Given the description of an element on the screen output the (x, y) to click on. 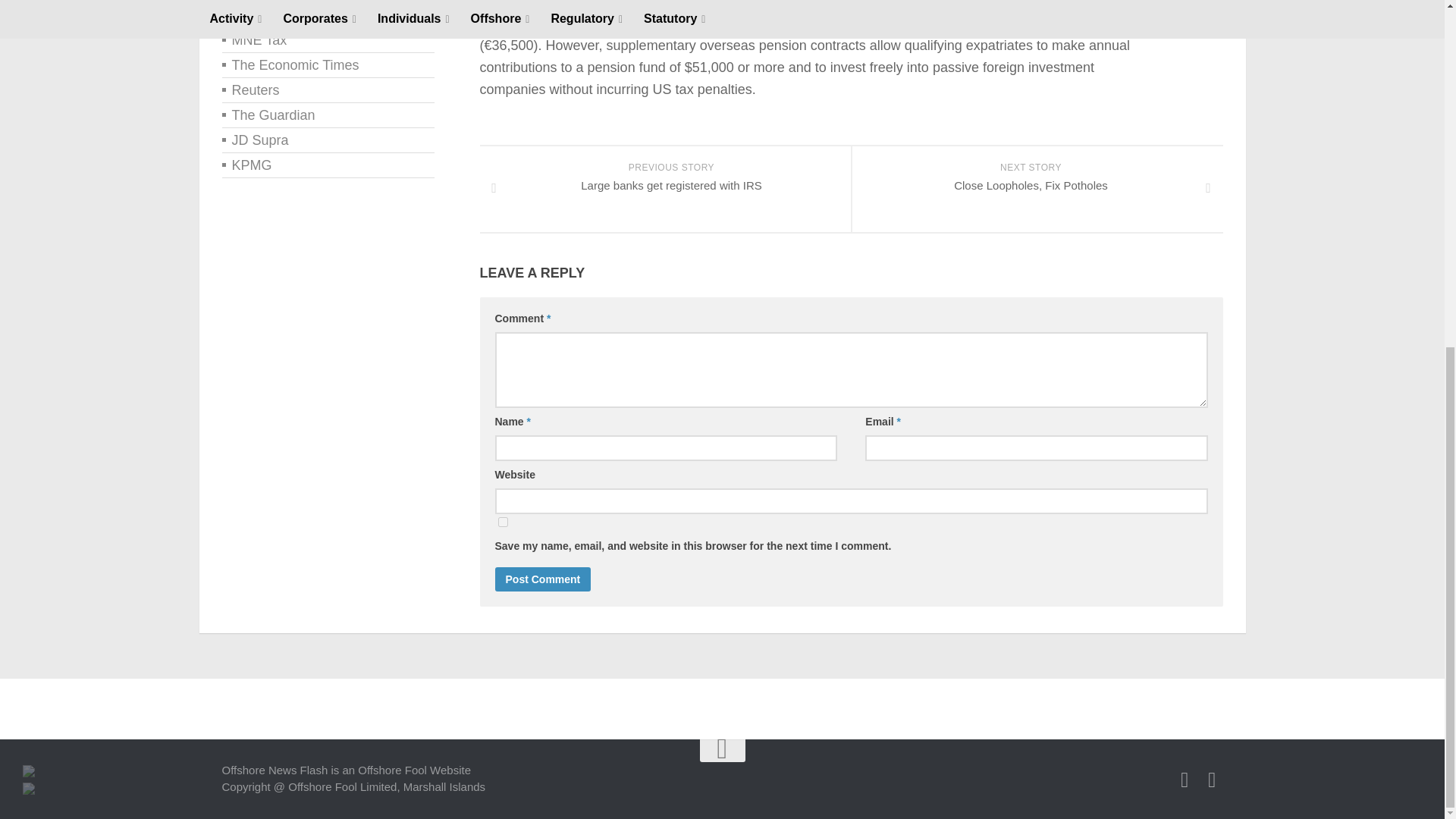
yes (501, 521)
Post Comment (543, 579)
Facebook (1184, 780)
Twitter (1212, 780)
